Given the description of an element on the screen output the (x, y) to click on. 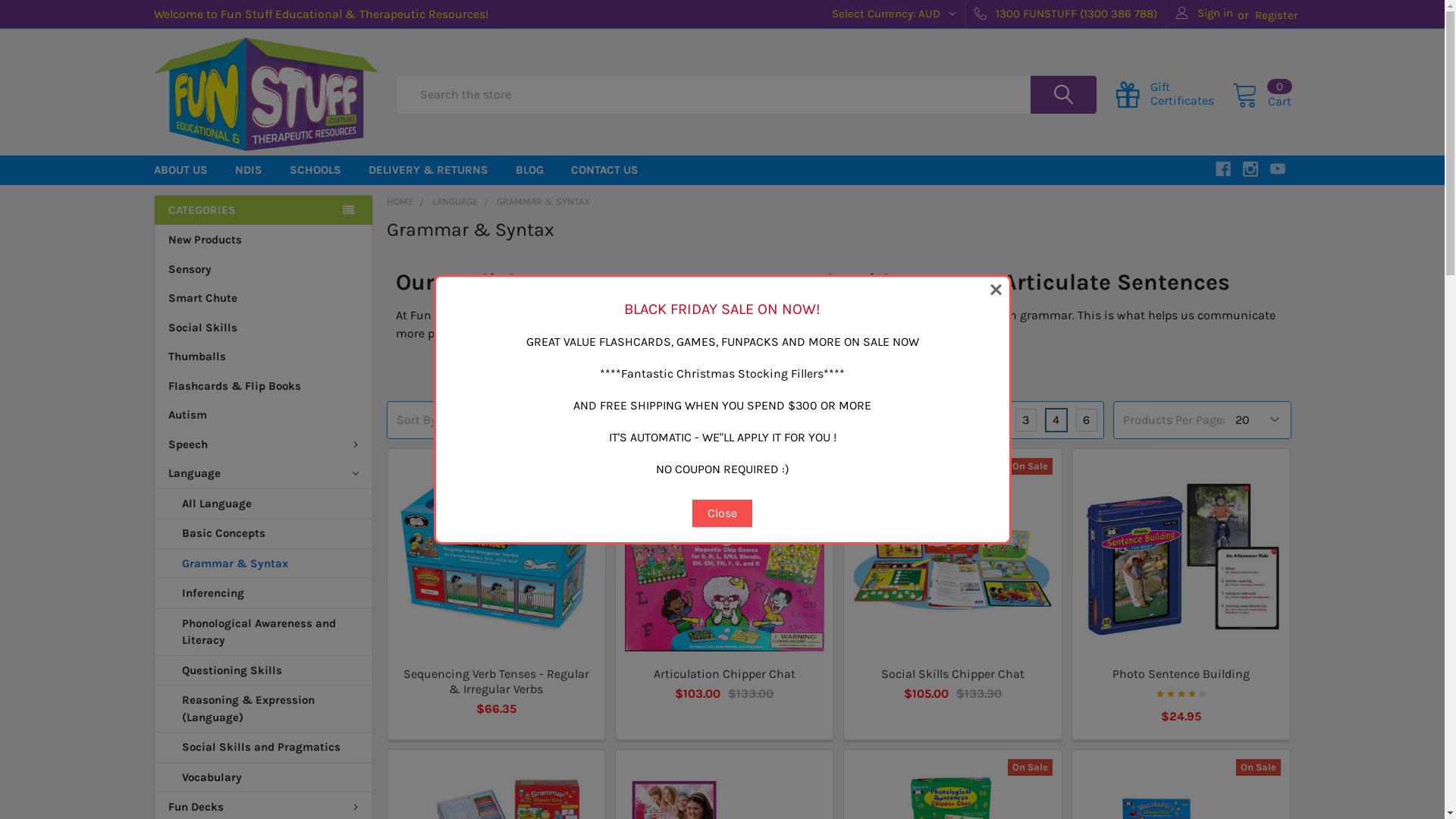
1300 FUNSTUFF (1300 386 788) Element type: text (1065, 13)
Smart Chute Element type: text (263, 298)
Fun Stuff Educational & Therapeutic Resources Element type: hover (265, 93)
Social Skills Element type: text (263, 327)
GRAMMAR & SYNTAX Element type: text (542, 201)
Social Skills Chipper Chat Element type: hover (952, 557)
Photo Sentence Building Element type: text (1180, 673)
Autism Element type: text (263, 414)
New Products Element type: text (263, 239)
Sensory Element type: text (263, 269)
ABOUT US Element type: text (179, 170)
Search Element type: text (1050, 94)
All Language Element type: text (263, 503)
Vocabulary Element type: text (263, 777)
Articulation Chipper Chat Element type: hover (724, 557)
Cart
0 Element type: text (1260, 94)
Language Element type: text (263, 473)
Inferencing Element type: text (263, 593)
SCHOOLS Element type: text (315, 170)
DELIVERY & RETURNS Element type: text (428, 170)
Reasoning & Expression (Language) Element type: text (263, 708)
Basic Concepts Element type: text (263, 533)
Close Element type: text (722, 513)
Grammar & Syntax Element type: text (263, 564)
Articulation Chipper Chat Element type: text (724, 673)
Phonological Awareness and Literacy Element type: text (263, 631)
Social Skills Chipper Chat Element type: text (952, 673)
Flashcards & Flip Books Element type: text (263, 386)
CATEGORIES Element type: text (262, 209)
CONTACT US Element type: text (603, 170)
HOME Element type: text (399, 201)
Speech Element type: text (263, 443)
Register Element type: text (1275, 14)
Questioning Skills Element type: text (263, 670)
Select Currency: 
AUD Element type: text (888, 13)
Sign in Element type: text (1204, 13)
LANGUAGE Element type: text (454, 201)
BLOG Element type: text (529, 170)
Gift
Certificates Element type: text (1173, 94)
Social Skills and Pragmatics Element type: text (263, 747)
Photo Sentence Building Element type: hover (1180, 557)
NDIS Element type: text (248, 170)
Thumballs Element type: text (263, 356)
Sequencing Verb Tenses - Regular & Irregular Verbs Element type: text (496, 681)
Sequencing Verb Tenses - Regular & Irregular Verbs Element type: hover (496, 557)
